Given the description of an element on the screen output the (x, y) to click on. 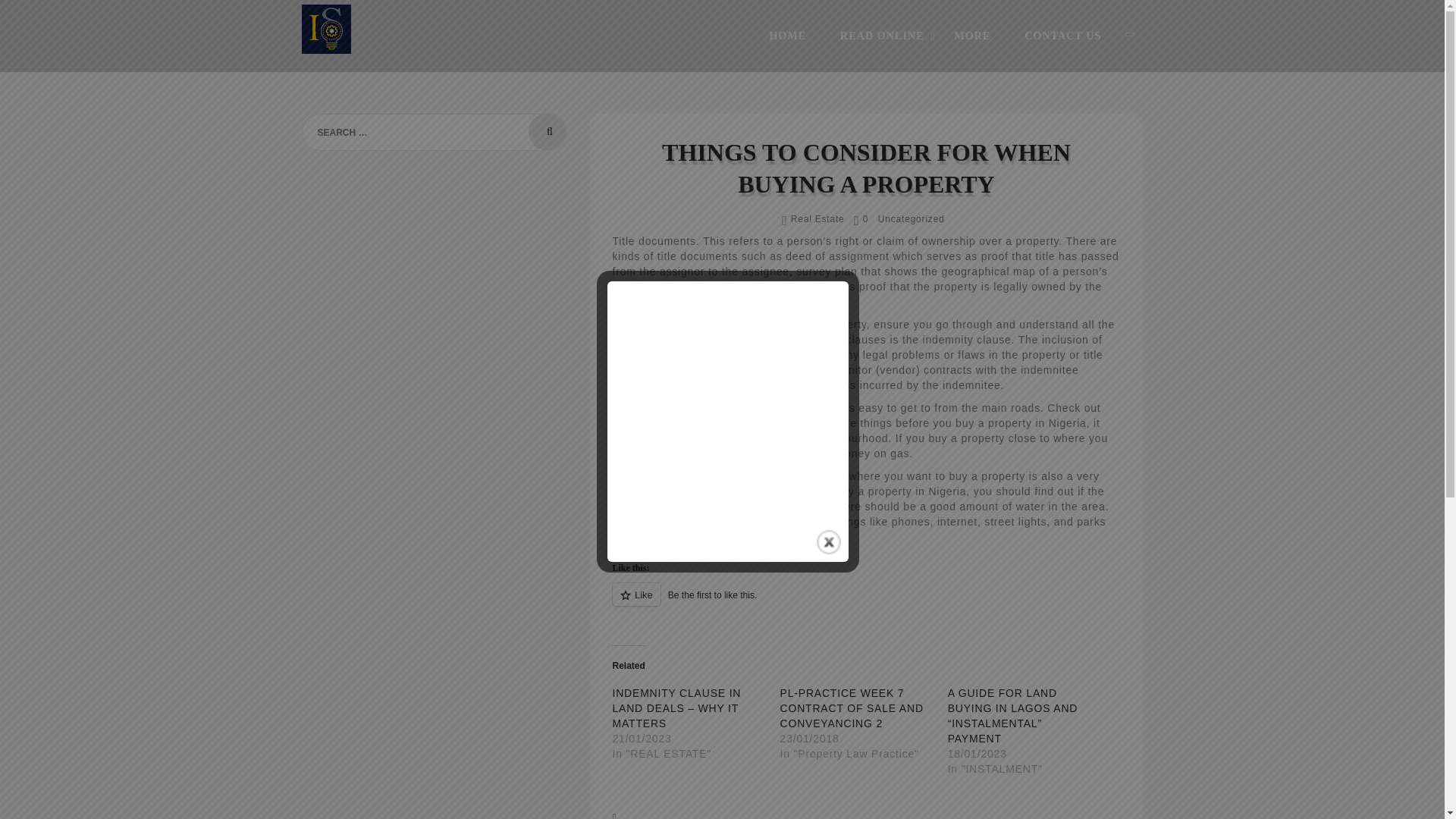
Close (828, 541)
Search (547, 131)
Uncategorized (910, 218)
Search (458, 751)
Search (547, 131)
Search (547, 131)
VIEW FULL SCHEDULE OF MATERIALS (611, 741)
Like or Reblog (865, 603)
0 (860, 217)
READ ONLINE (880, 36)
CONTACT US (1062, 36)
MORE (972, 36)
YouTube video player (727, 405)
HOME (787, 36)
PL-PRACTICE WEEK 7 CONTRACT OF SALE AND CONVEYANCING 2 (851, 708)
